Given the description of an element on the screen output the (x, y) to click on. 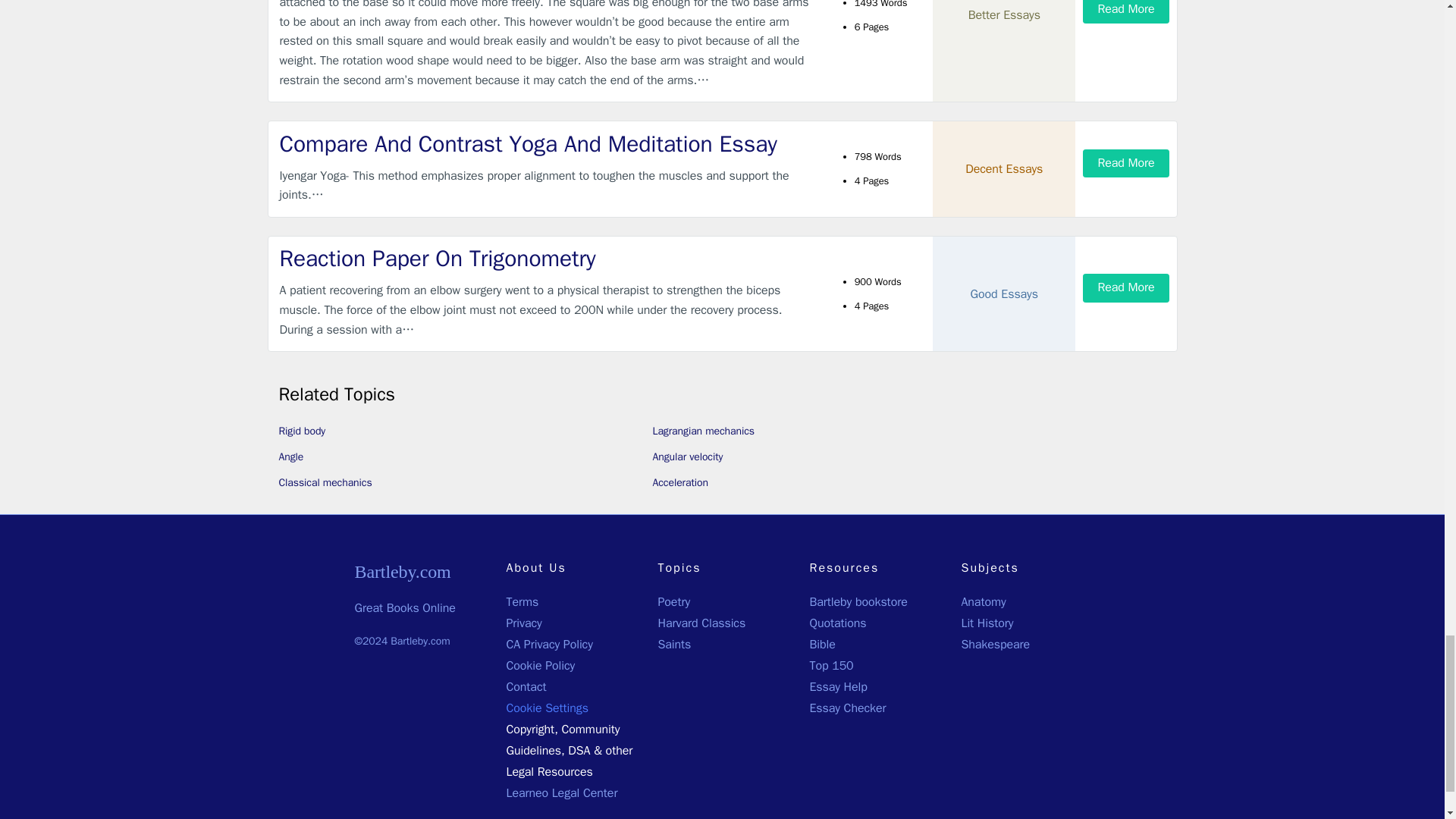
Rigid body (302, 431)
Lagrangian mechanics (703, 431)
Angle (291, 456)
Angular velocity (687, 456)
Acceleration (679, 481)
Classical mechanics (325, 481)
